Given the description of an element on the screen output the (x, y) to click on. 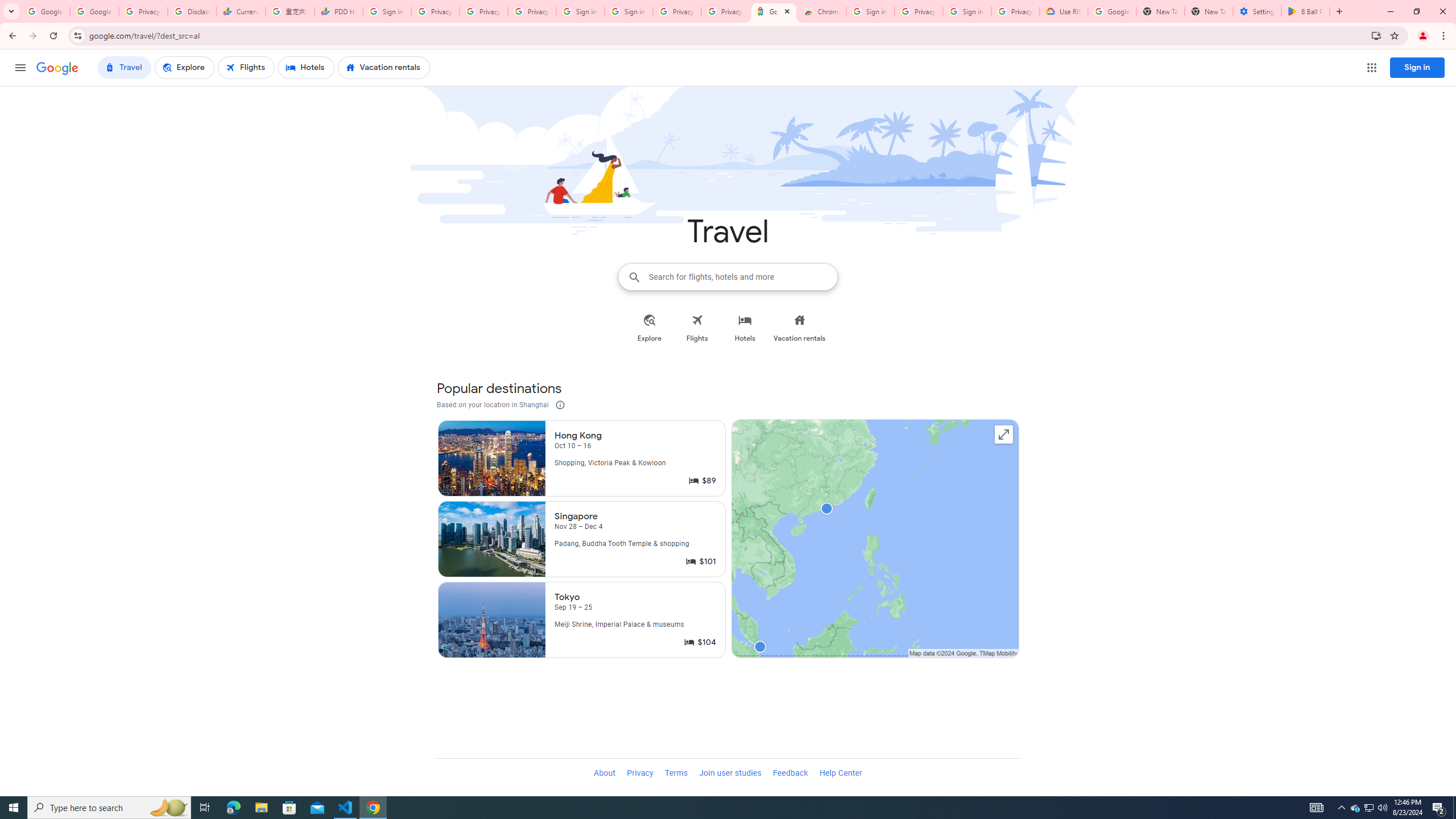
Hotels (745, 328)
New Tab (1208, 11)
Flights (697, 328)
Search for flights, hotels and more (742, 276)
Settings - System (1257, 11)
Sign in - Google Accounts (580, 11)
Flights (697, 328)
